Given the description of an element on the screen output the (x, y) to click on. 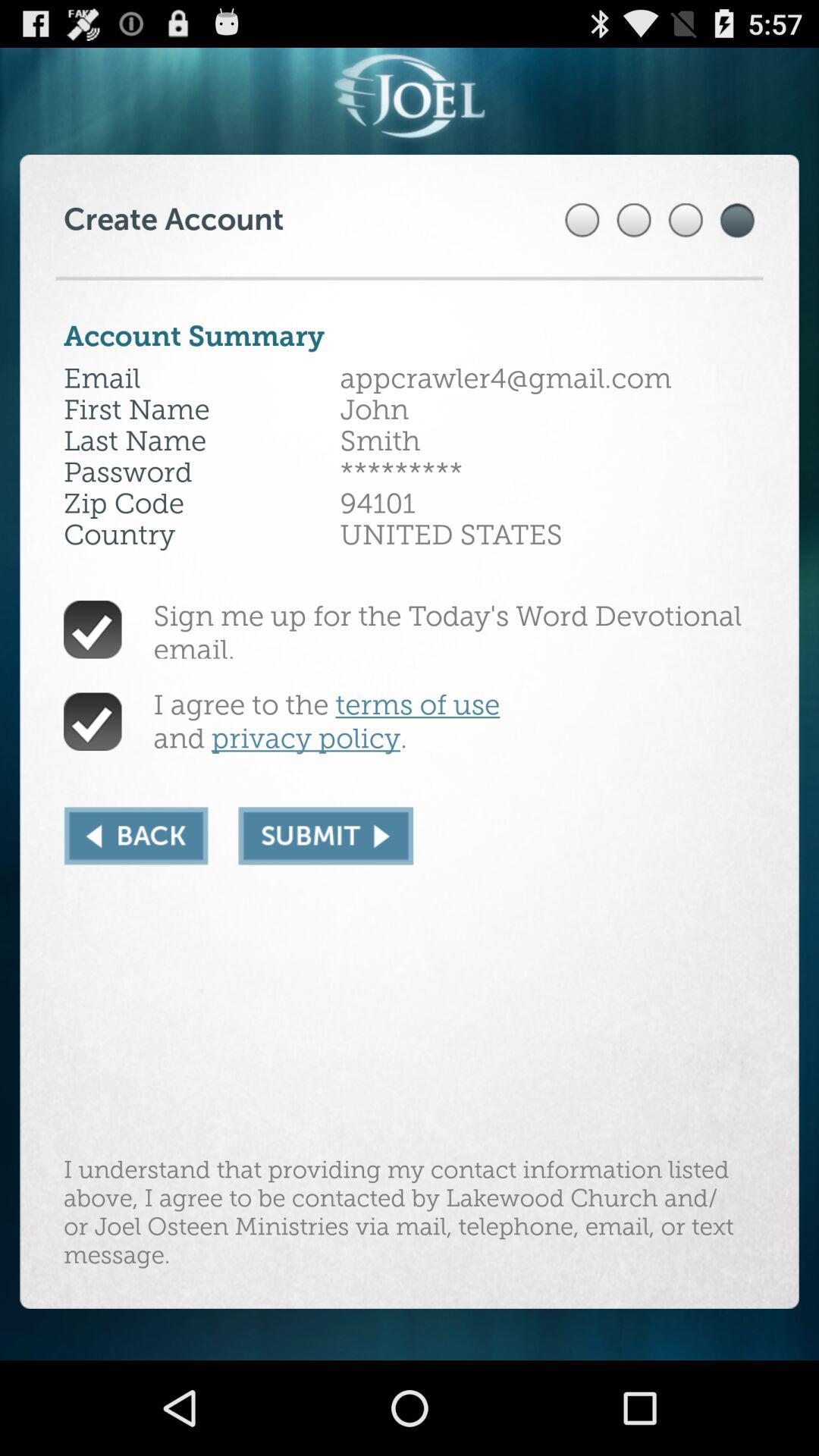
go back (135, 836)
